Given the description of an element on the screen output the (x, y) to click on. 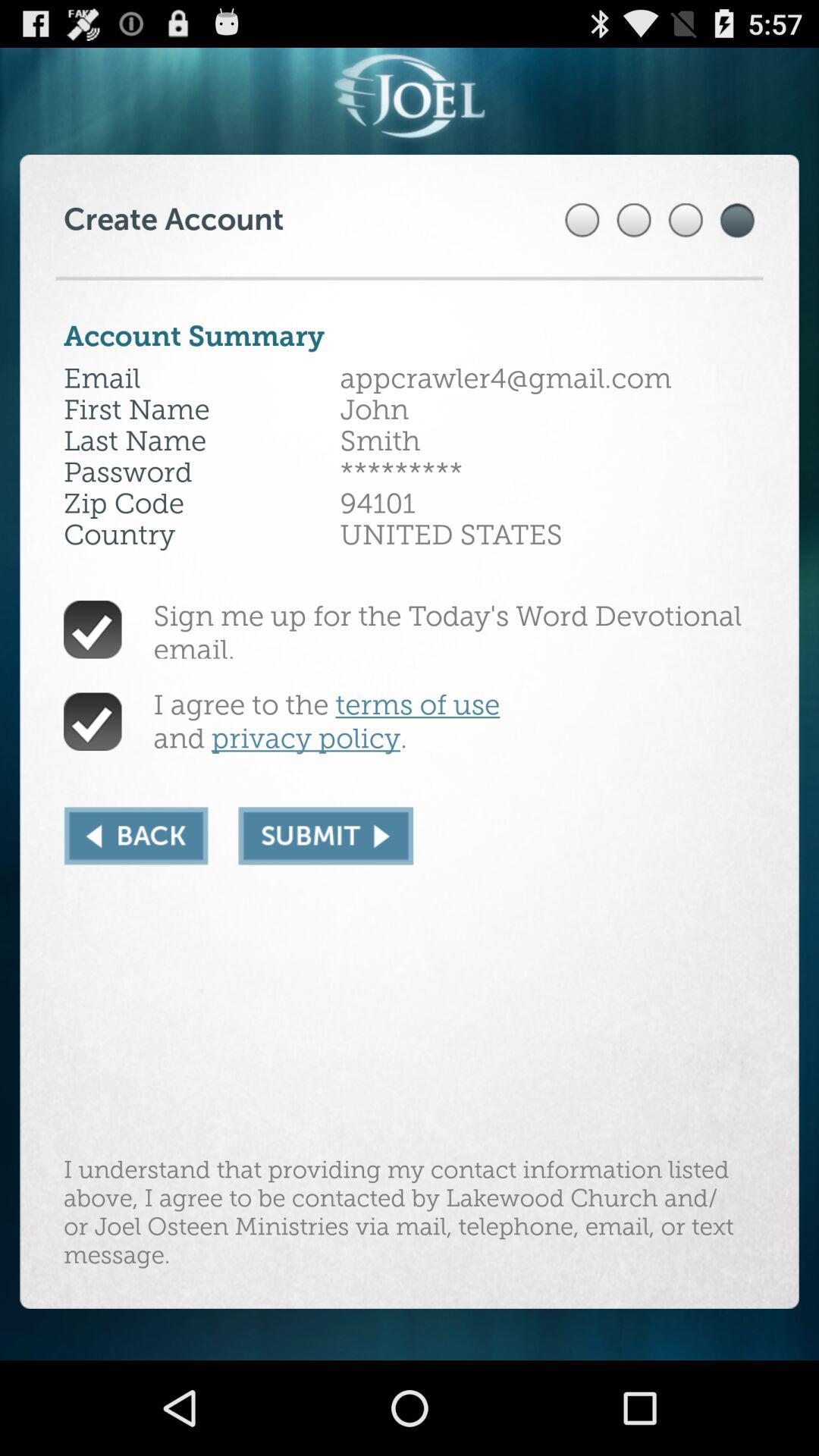
go back (135, 836)
